Given the description of an element on the screen output the (x, y) to click on. 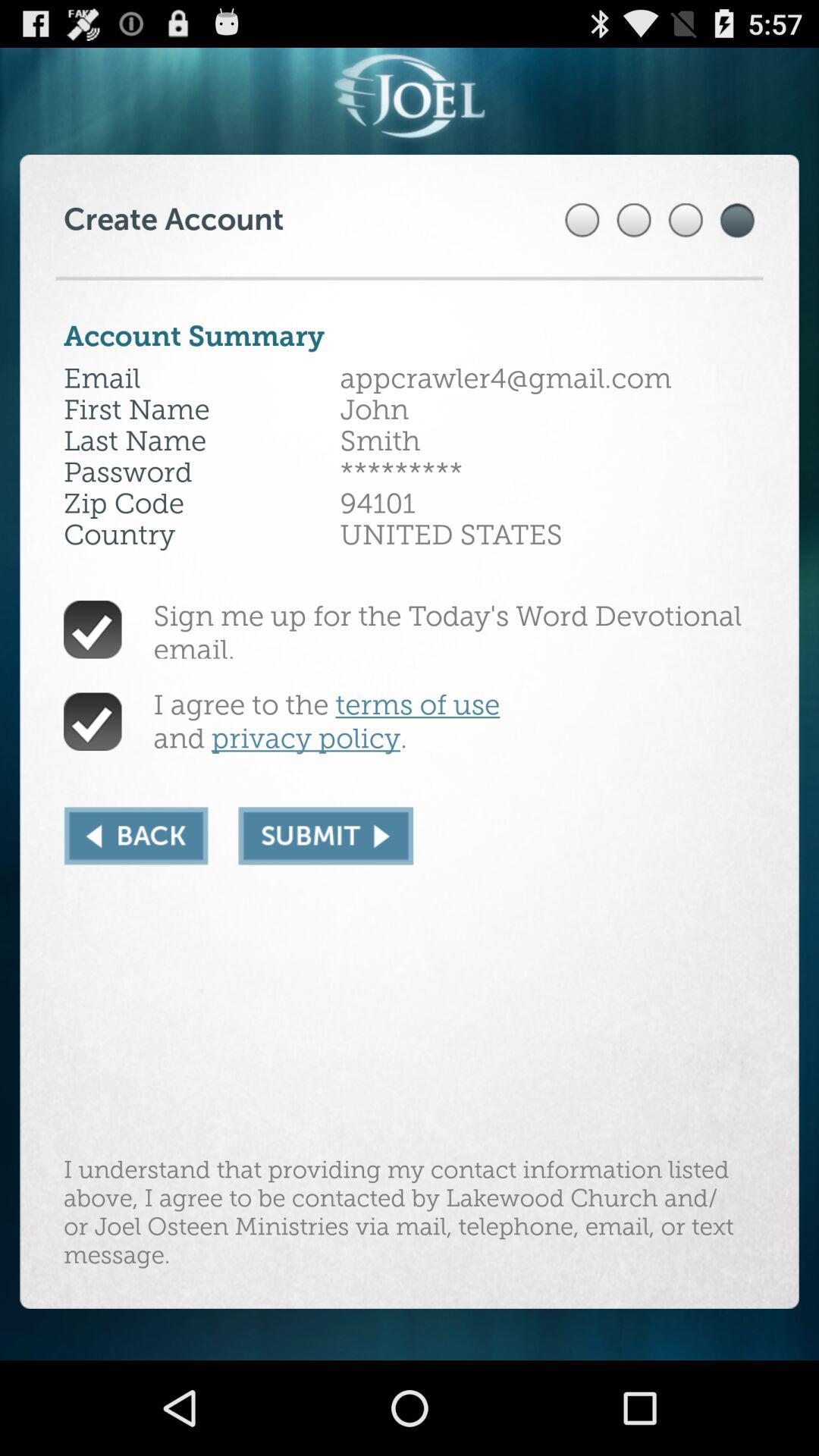
go back (135, 836)
